Given the description of an element on the screen output the (x, y) to click on. 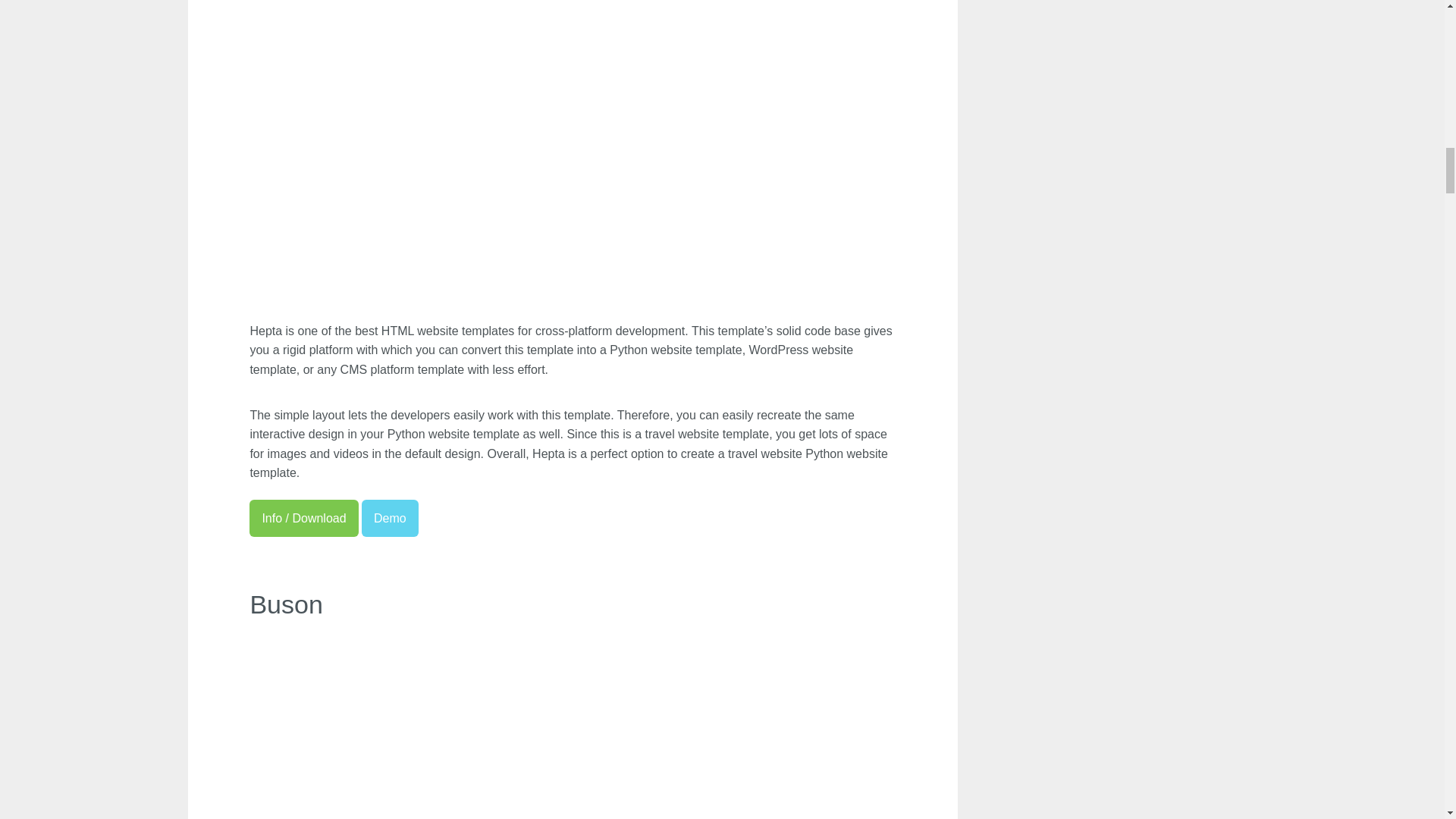
Demo (390, 518)
